Given the description of an element on the screen output the (x, y) to click on. 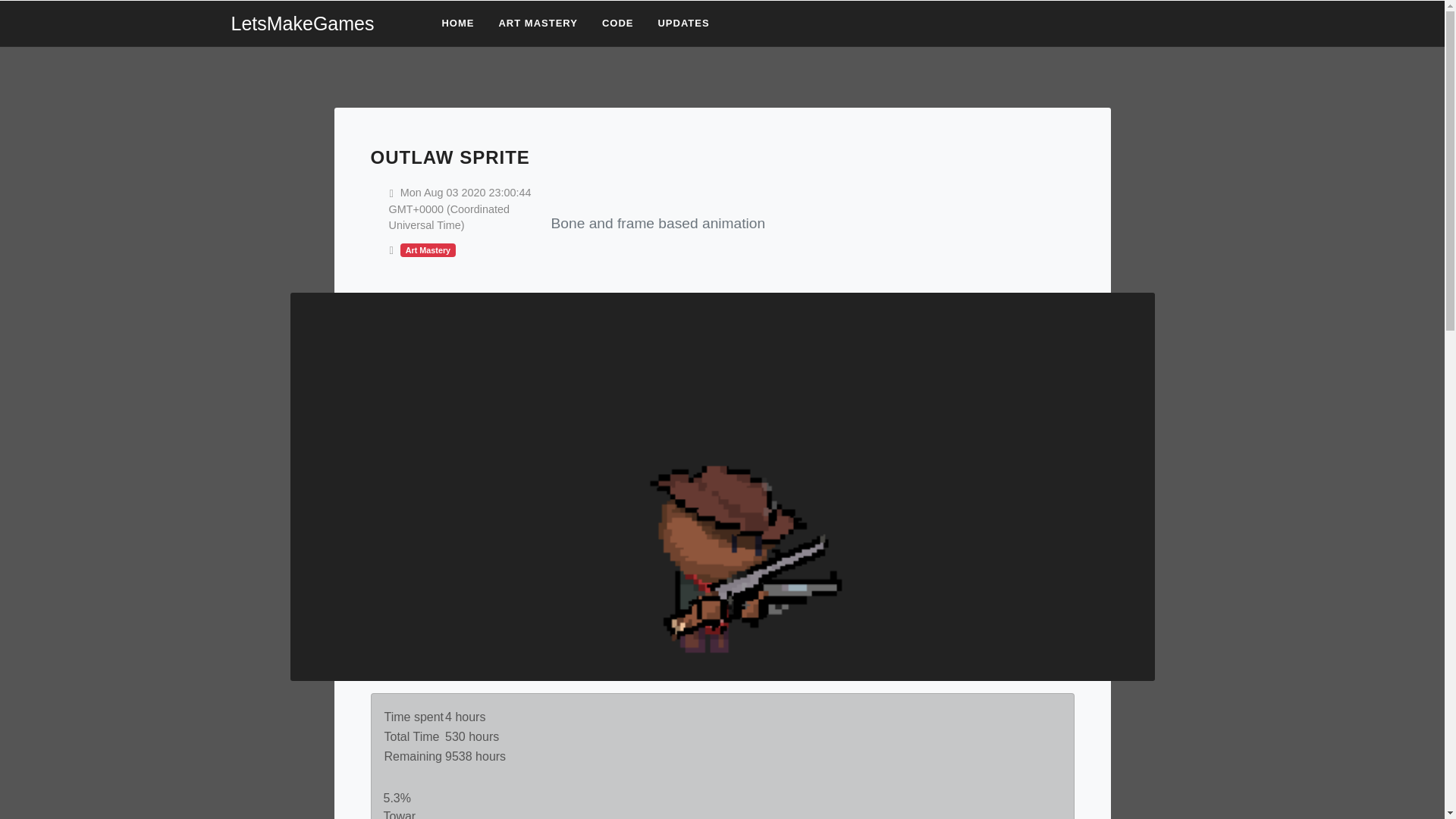
HOME (456, 22)
CODE (618, 22)
Art Mastery (427, 249)
LetsMakeGames (321, 23)
UPDATES (683, 22)
ART MASTERY (537, 22)
